Given the description of an element on the screen output the (x, y) to click on. 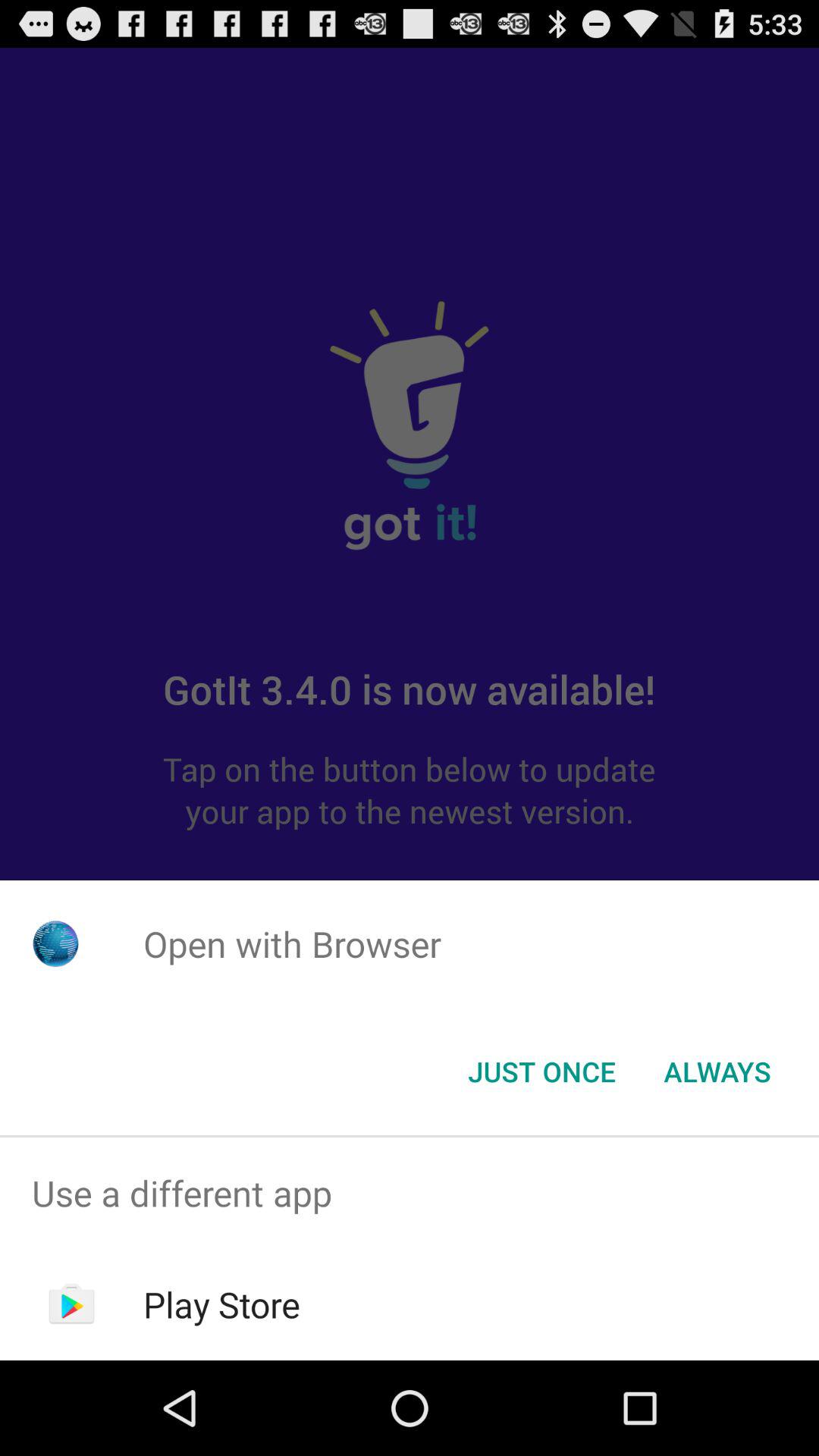
click use a different icon (409, 1192)
